Given the description of an element on the screen output the (x, y) to click on. 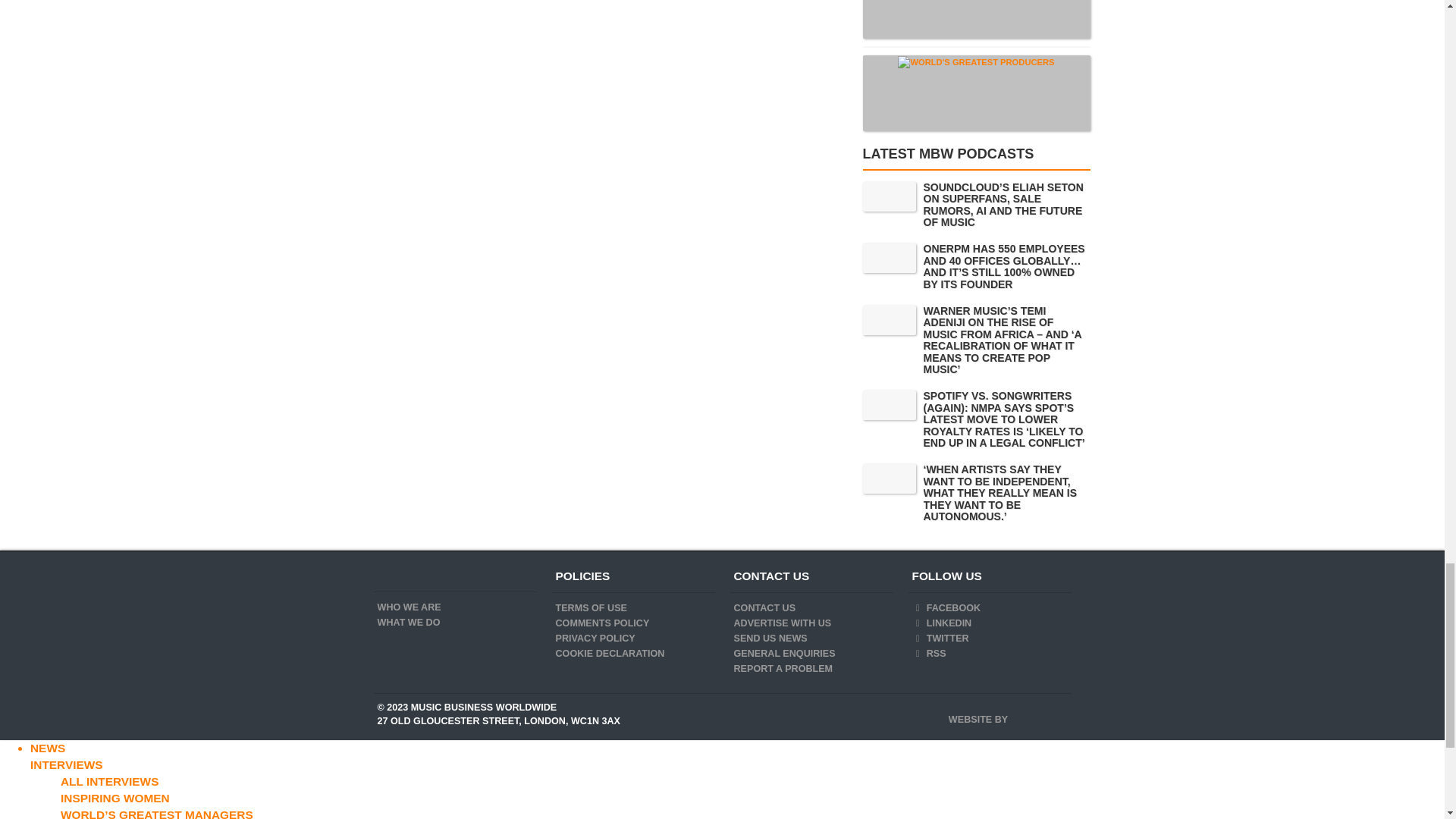
Music Business Worldwide (398, 576)
44 Bytes - Intelligent Internet Services (1038, 713)
